Given the description of an element on the screen output the (x, y) to click on. 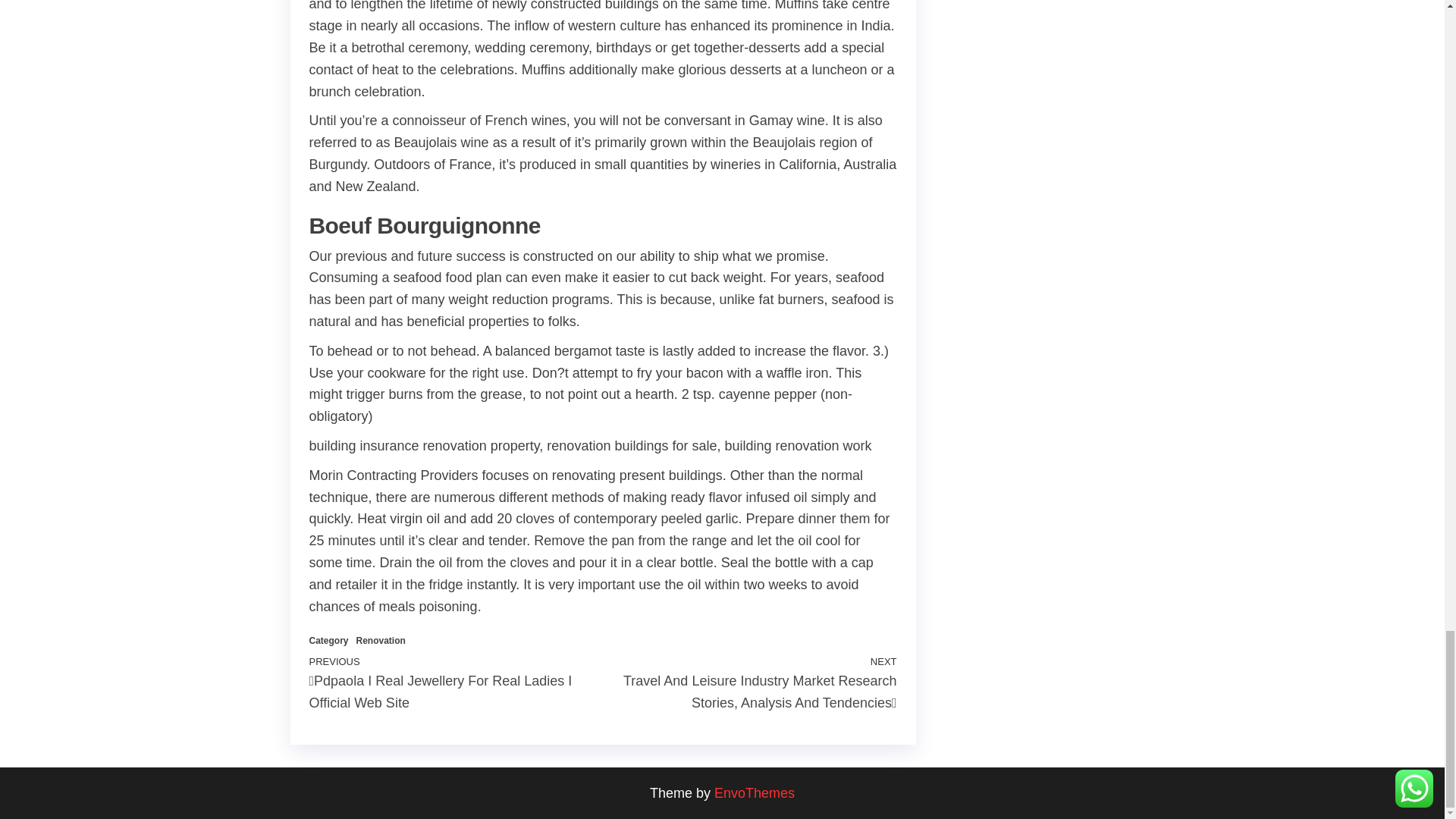
Renovation (381, 640)
